Given the description of an element on the screen output the (x, y) to click on. 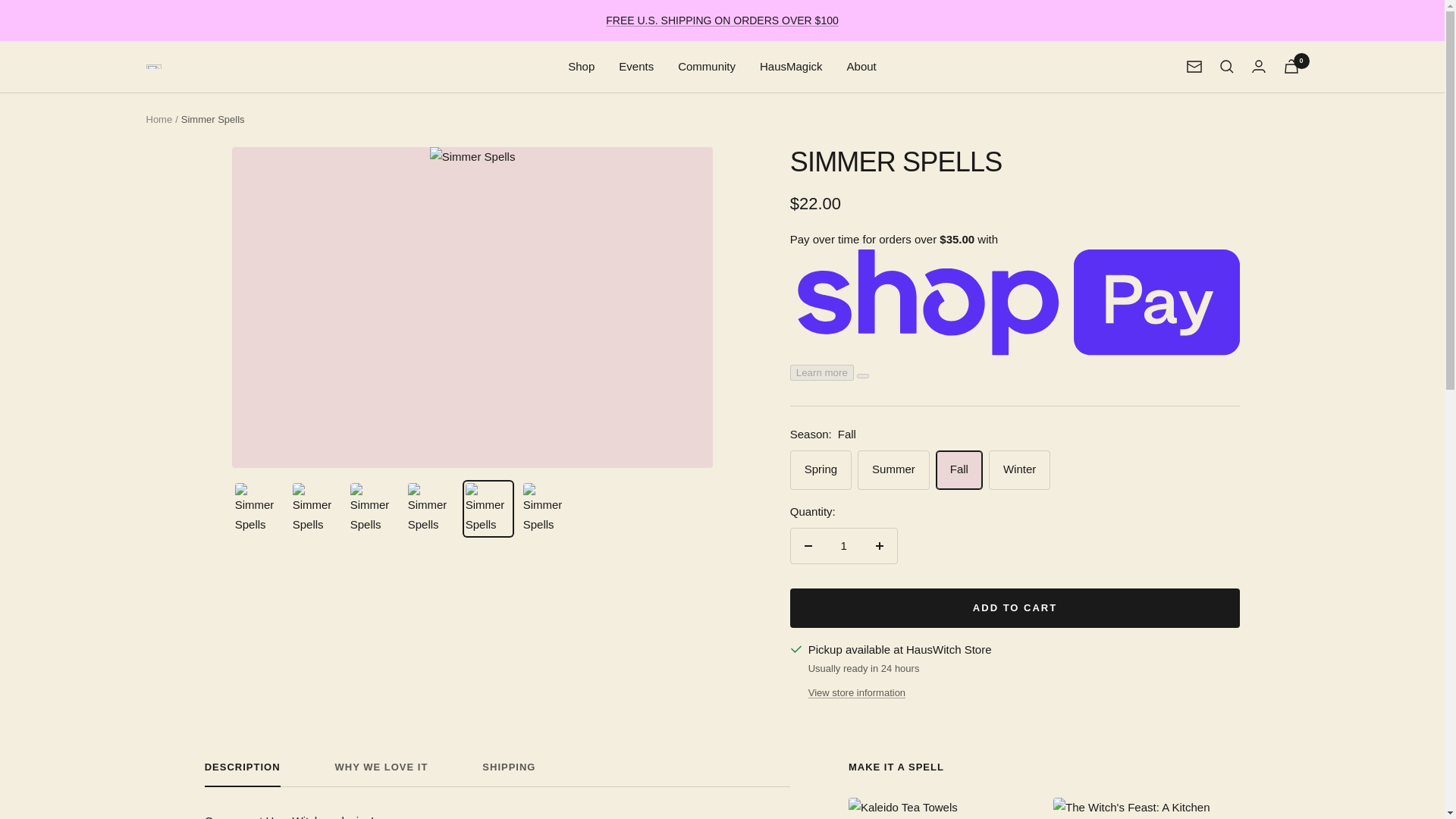
View store information (856, 693)
1 (843, 545)
HausWitch (152, 66)
Increase quantity (878, 545)
Shop (580, 66)
ADD TO CART (1015, 608)
Decrease quantity (807, 545)
Events (635, 66)
Newsletter (1193, 66)
Community (706, 66)
WHY WE LOVE IT (381, 774)
DESCRIPTION (497, 774)
